Given the description of an element on the screen output the (x, y) to click on. 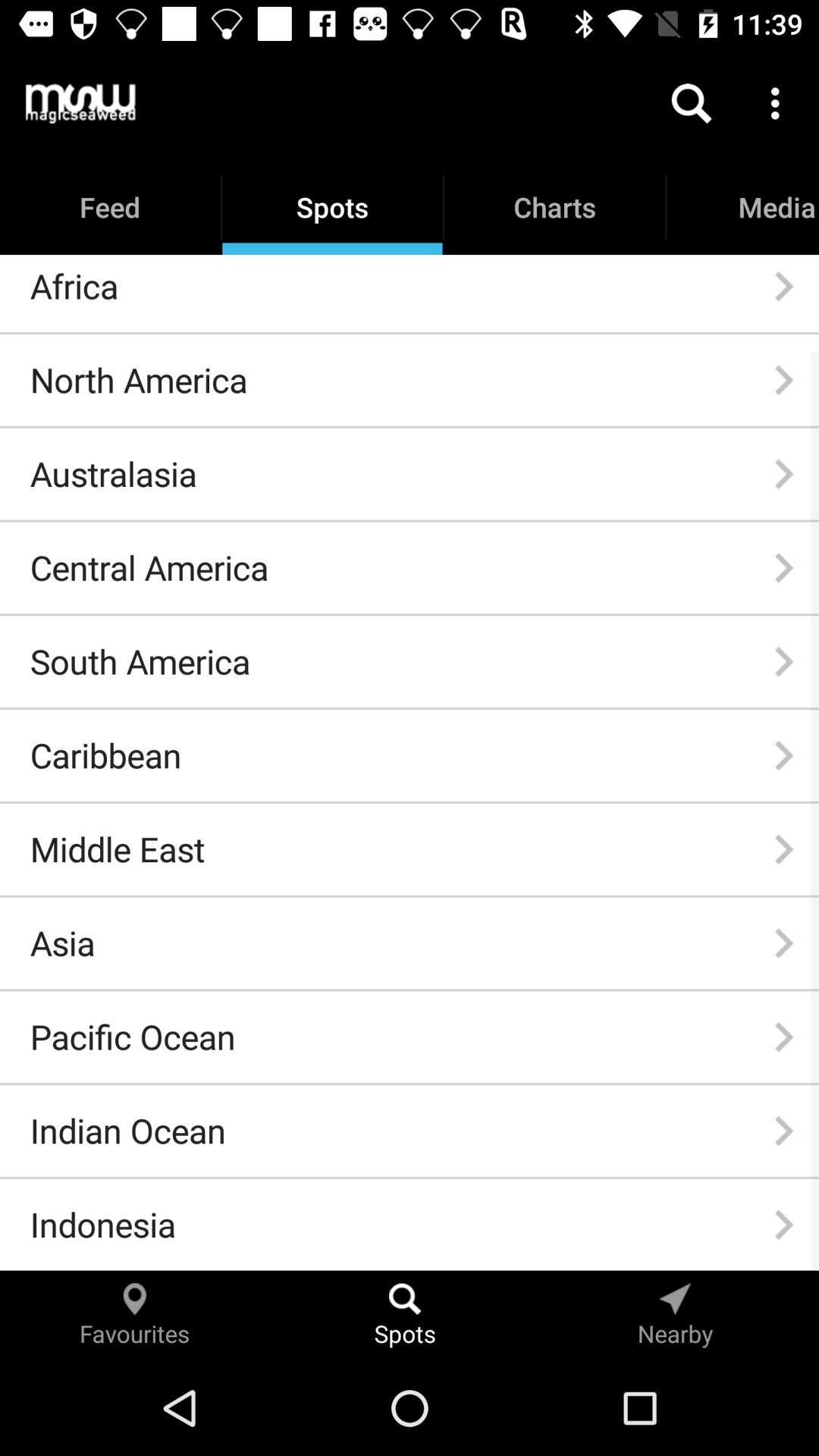
launch item to the right of indian ocean (784, 1130)
